Given the description of an element on the screen output the (x, y) to click on. 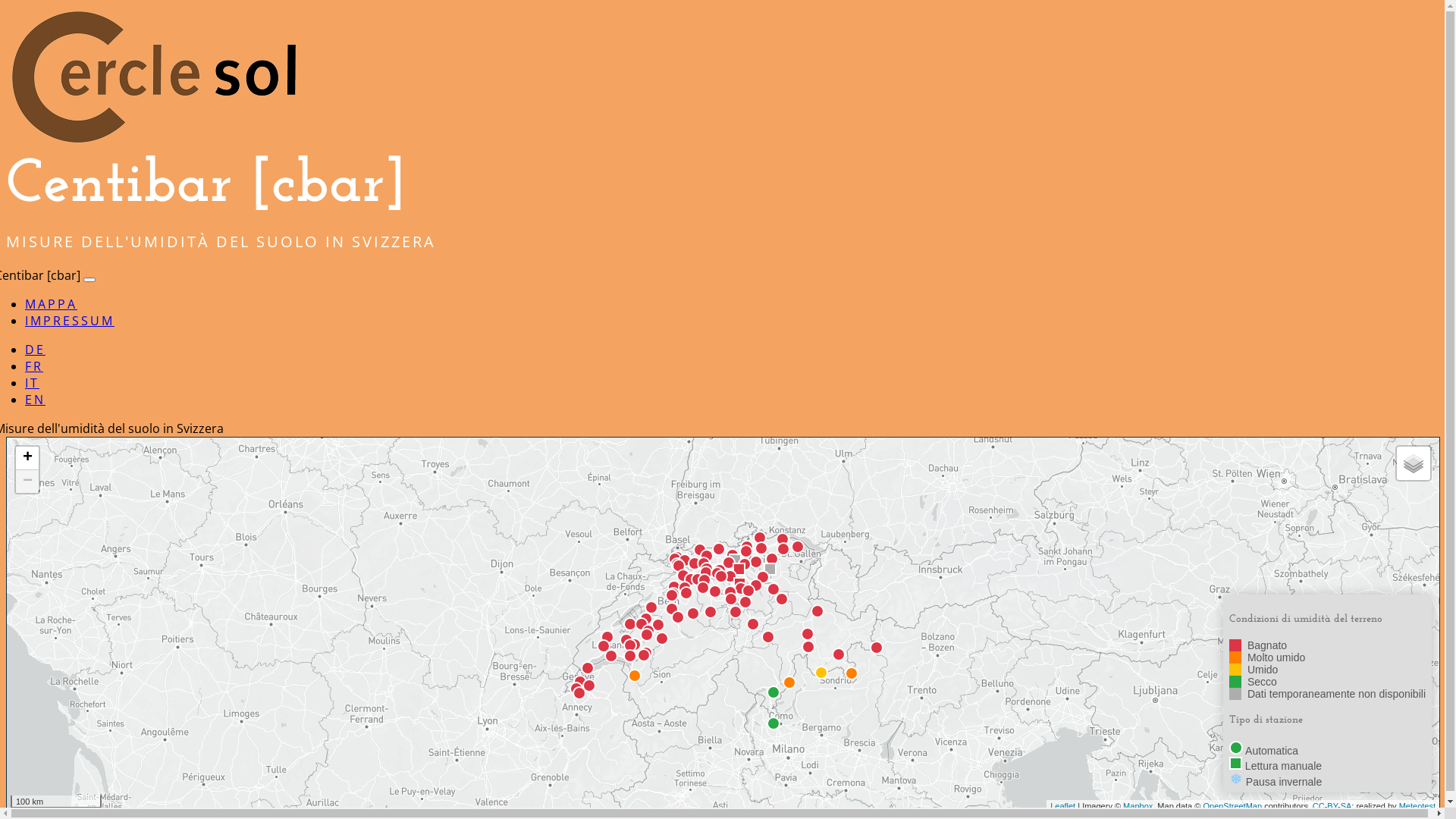
Layers Element type: hover (1413, 463)
Leaflet Element type: text (1062, 804)
OpenStreetMap Element type: text (1231, 804)
EN Element type: text (35, 399)
IT Element type: text (32, 382)
CC-BY-SA Element type: text (1332, 804)
IMPRESSUM Element type: text (69, 320)
+ Element type: text (26, 458)
Mapbox Element type: text (1137, 804)
DE Element type: text (35, 349)
Meteotest Element type: text (1417, 804)
MAPPA Element type: text (51, 303)
FR Element type: text (34, 365)
